Given the description of an element on the screen output the (x, y) to click on. 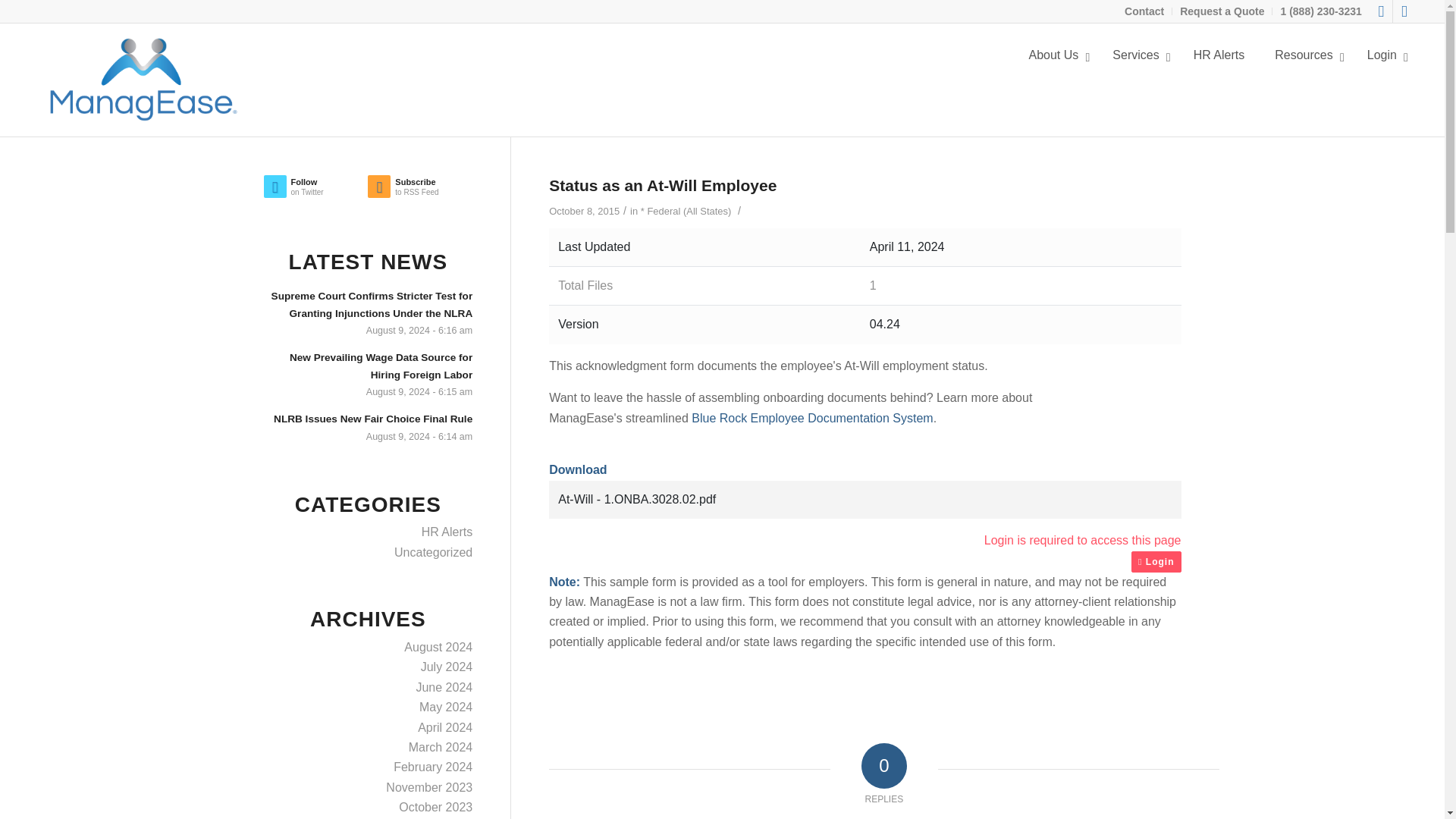
Resources (1305, 55)
Request a Quote (1221, 11)
About Us (1055, 55)
New Prevailing Wage Data Source for Hiring Foreign Labor (368, 374)
Linkedin (1404, 11)
Twitter (1380, 11)
HR Alerts (1218, 55)
Permanent Link: Status as an At-Will Employee (662, 185)
NLRB Issues New Fair Choice Final Rule (368, 426)
